Given the description of an element on the screen output the (x, y) to click on. 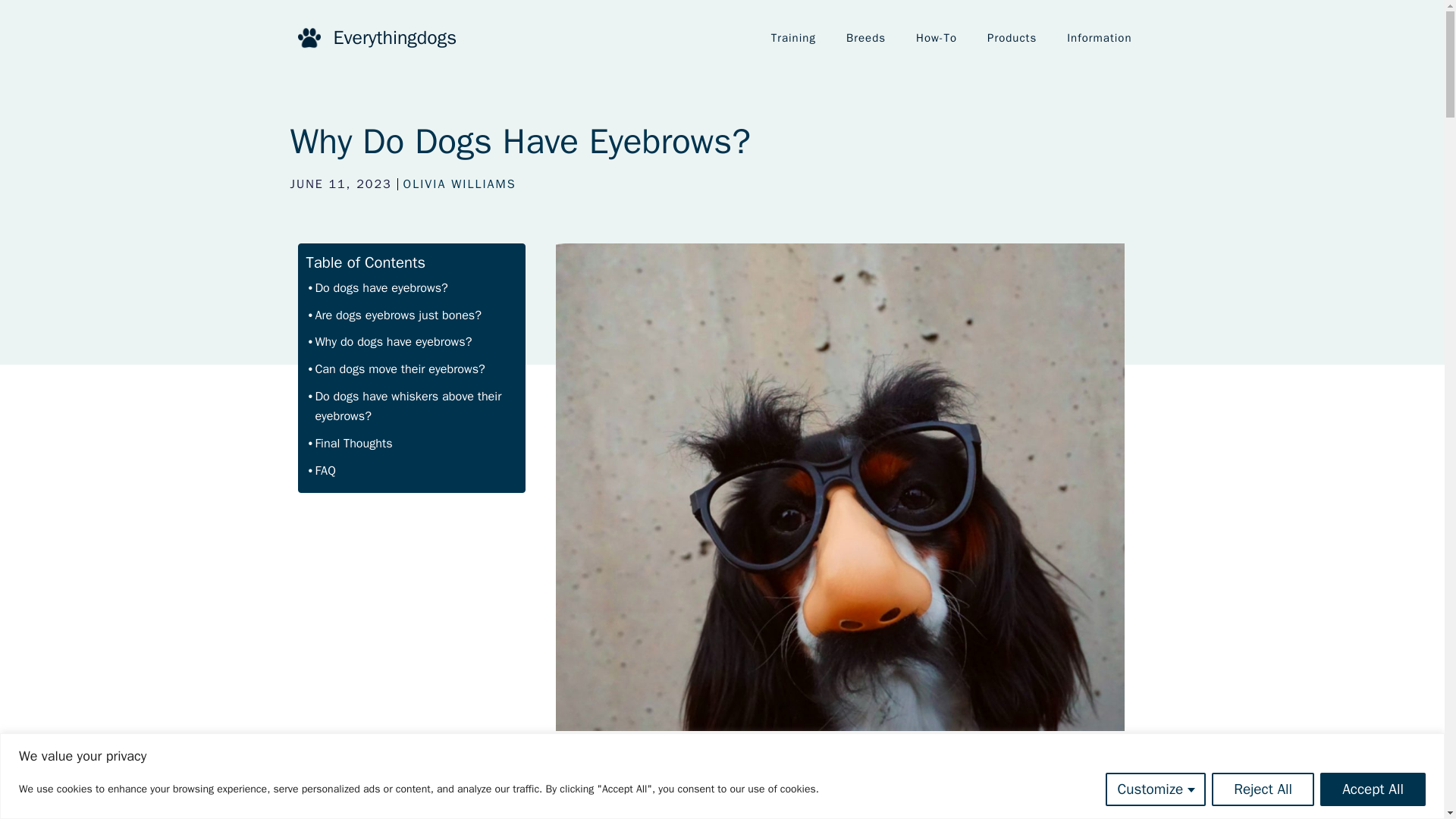
Final Thoughts (349, 443)
Information (1099, 37)
Can dogs move their eyebrows? (396, 369)
Reject All (1262, 788)
Are dogs eyebrows just bones? (394, 315)
Final Thoughts (349, 443)
Breeds (866, 37)
Do dogs have eyebrows? (377, 288)
Customize (1156, 788)
Can dogs move their eyebrows? (396, 369)
FAQ (321, 470)
FAQ (321, 470)
Are dogs eyebrows just bones? (394, 315)
Everythingdogs (395, 37)
Why do dogs have eyebrows? (389, 341)
